Given the description of an element on the screen output the (x, y) to click on. 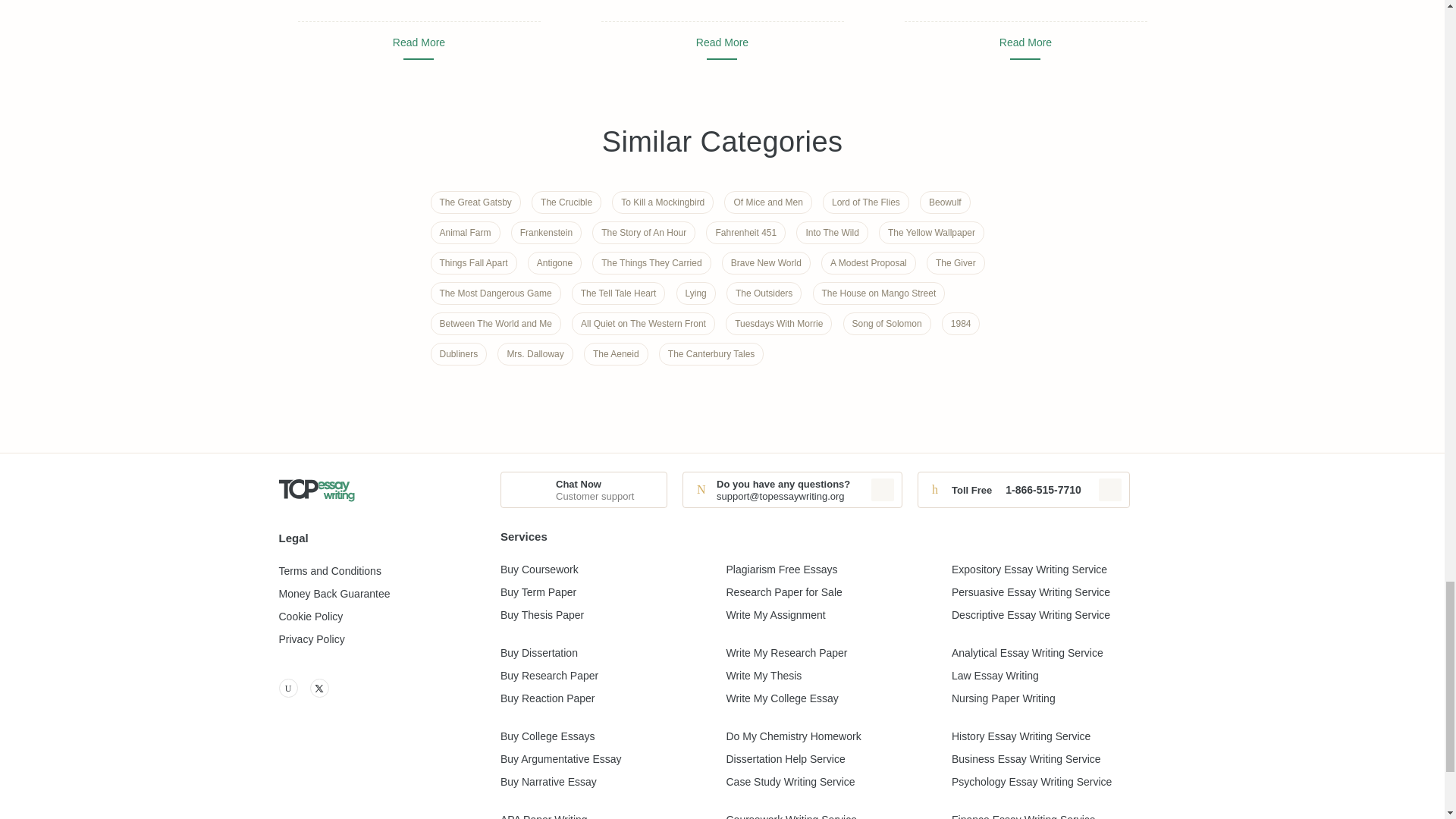
Copied to clipboard (1110, 489)
Copied to clipboard (881, 489)
